Given the description of an element on the screen output the (x, y) to click on. 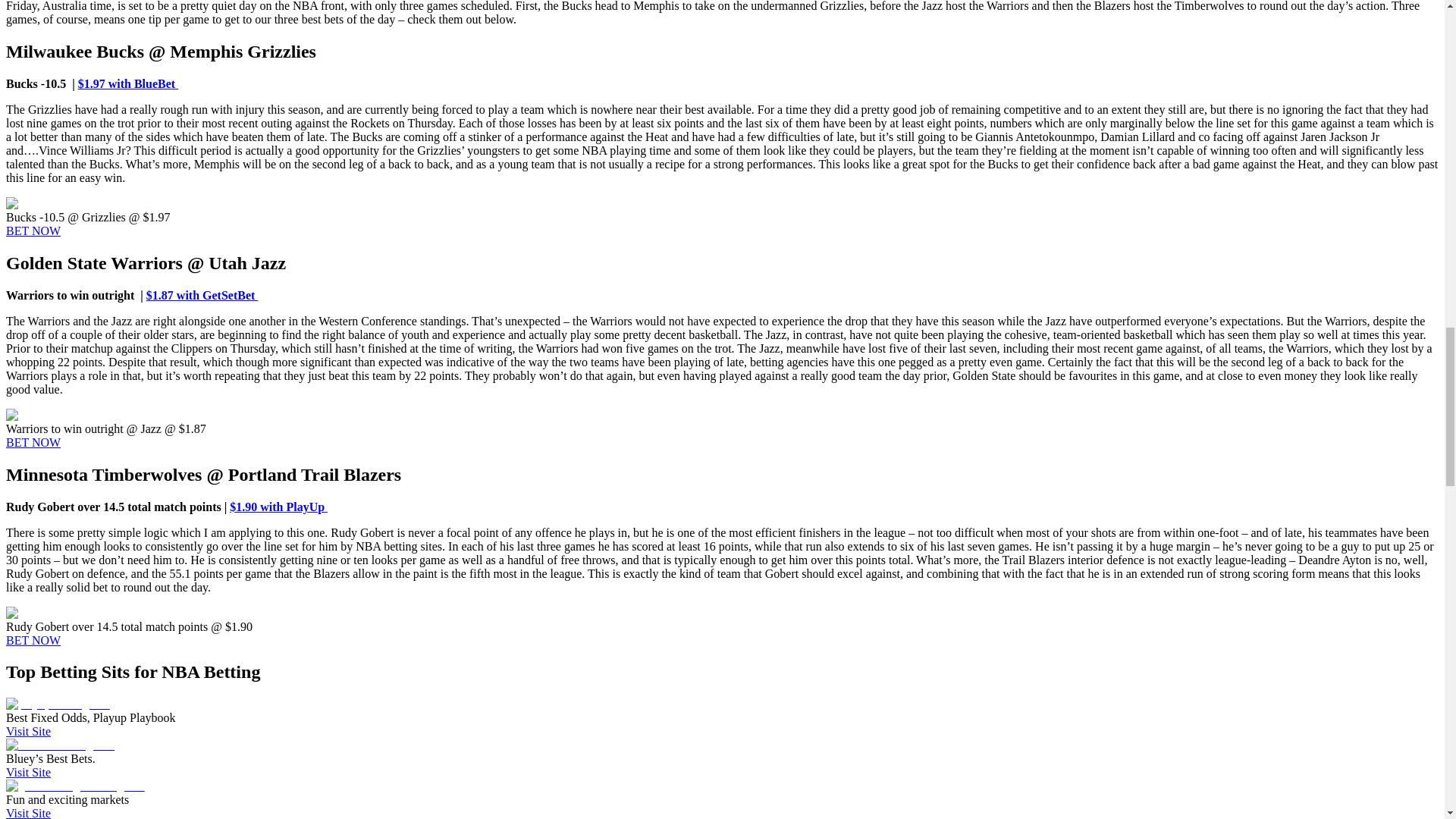
playup-white (57, 704)
bluebet (60, 203)
getsetbet (74, 786)
getsetbet (74, 415)
bluebet (60, 745)
playup-black (46, 612)
